Given the description of an element on the screen output the (x, y) to click on. 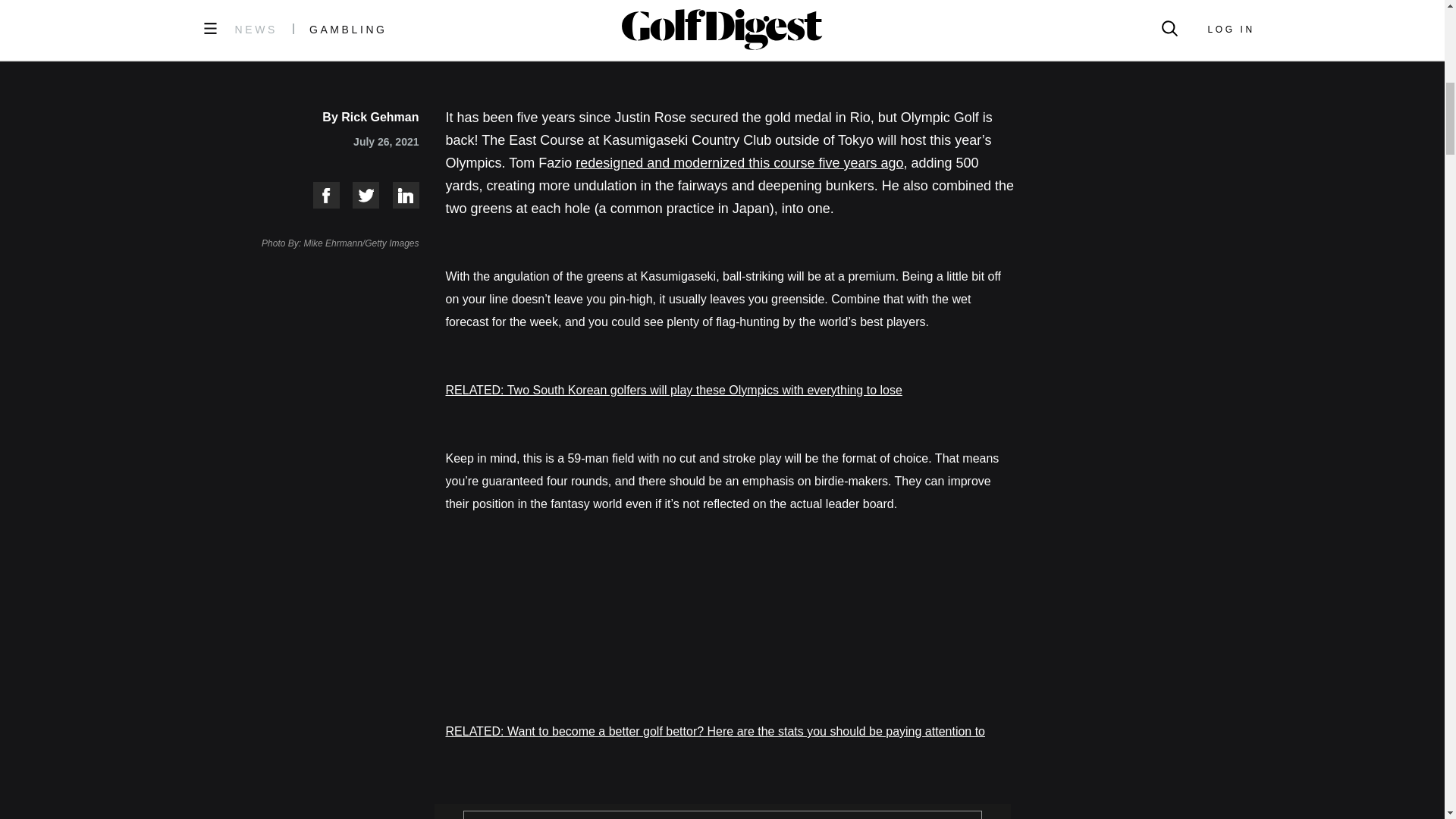
Share on Facebook (319, 194)
Share on LinkedIn (398, 194)
Share on Twitter (359, 194)
